Given the description of an element on the screen output the (x, y) to click on. 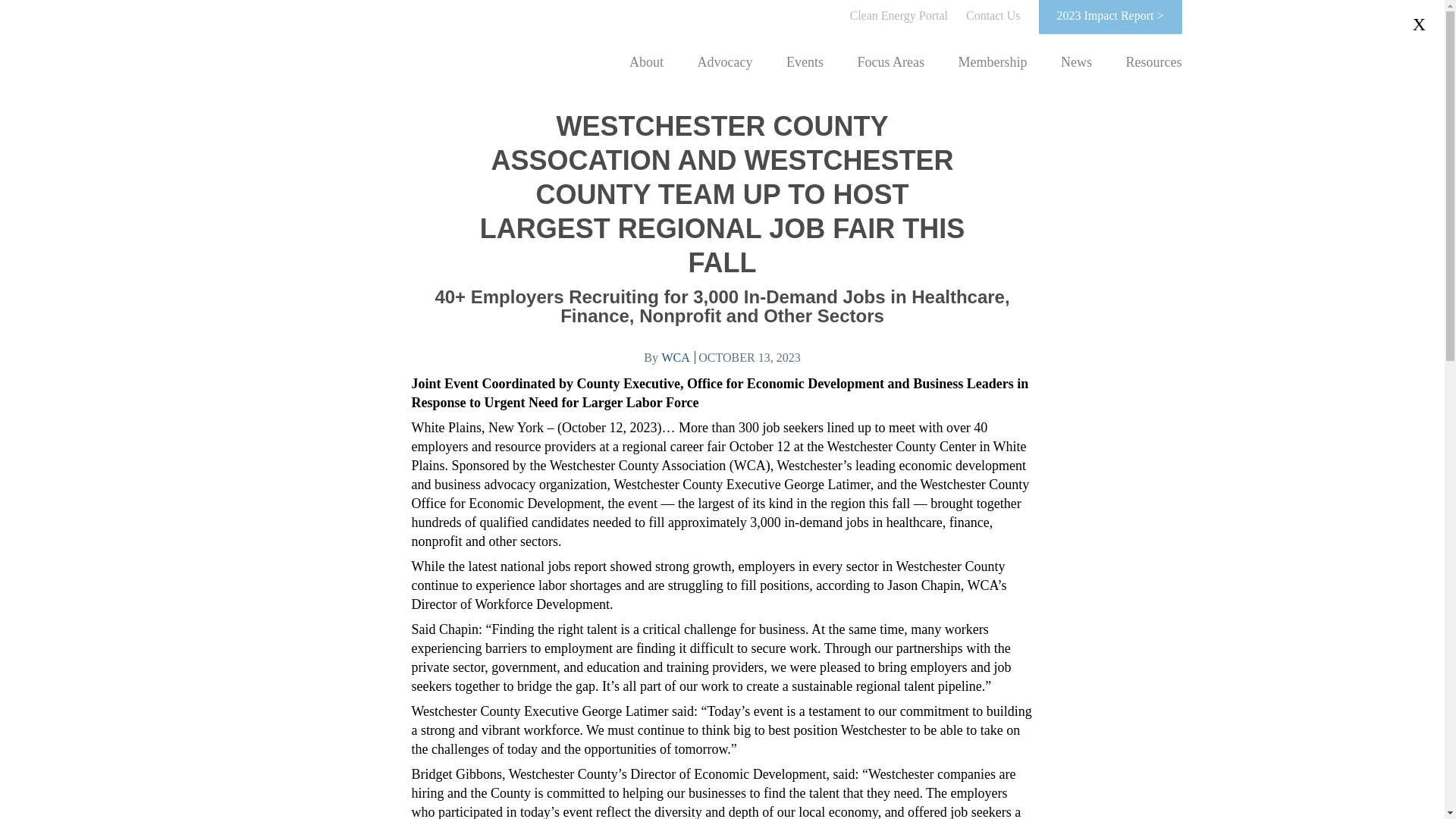
Events (805, 62)
Clean Energy Portal (897, 15)
Contact Us (993, 15)
News (1076, 62)
